Given the description of an element on the screen output the (x, y) to click on. 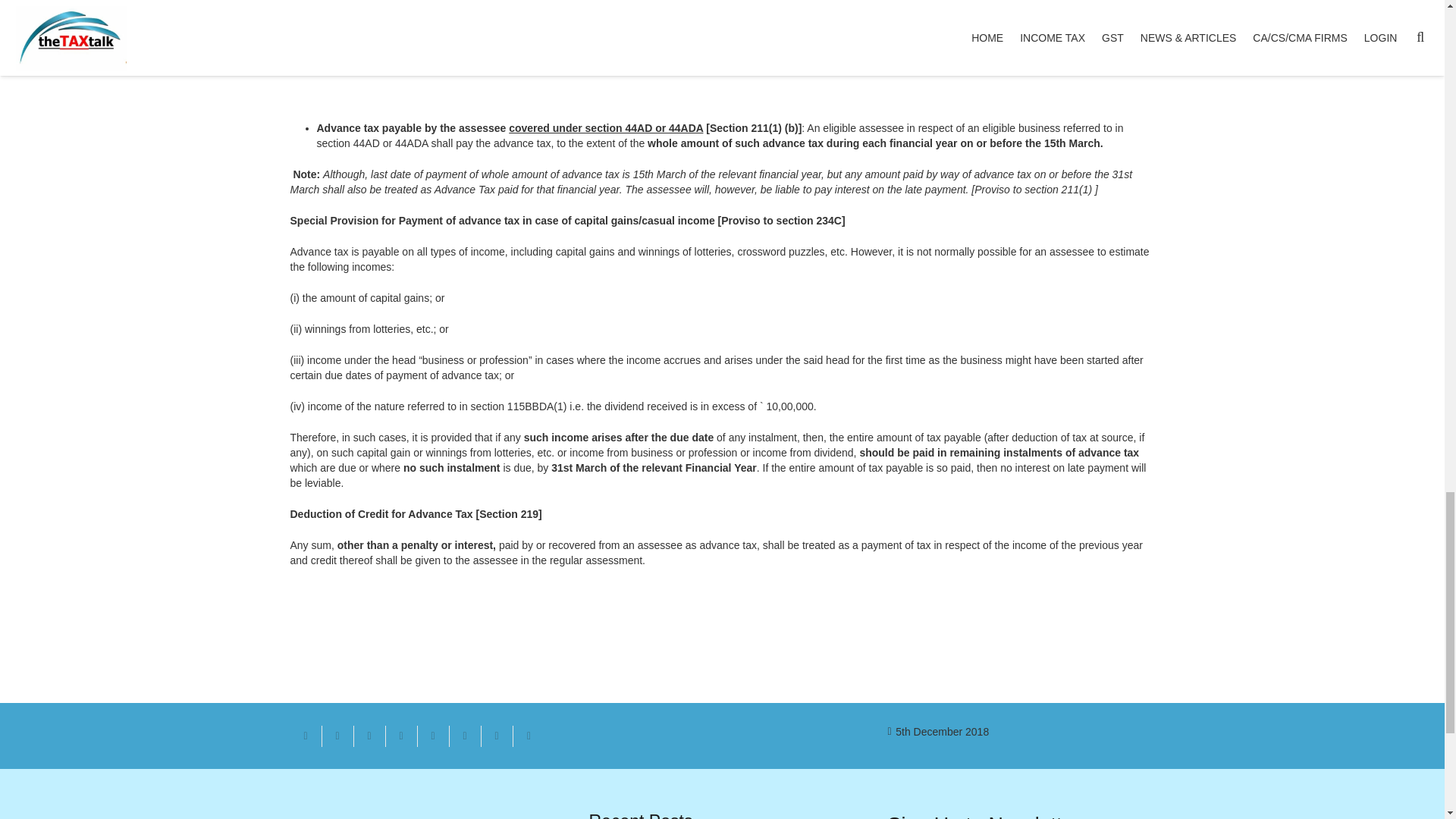
Email this (305, 735)
Share this (337, 735)
Pin this (432, 735)
Share this (464, 735)
Share this (528, 735)
Tweet this (369, 735)
Share this (496, 735)
Share this (400, 735)
